Given the description of an element on the screen output the (x, y) to click on. 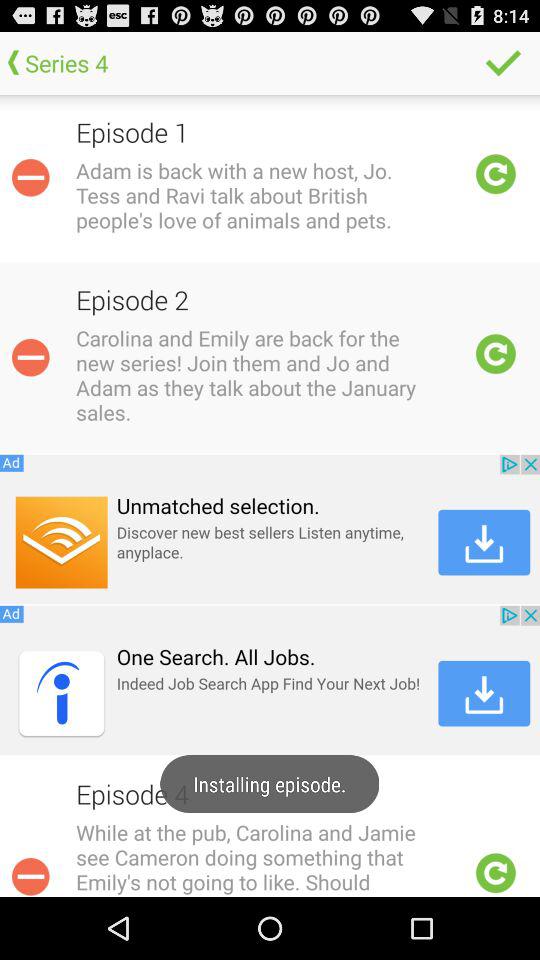
remove episode (30, 357)
